Given the description of an element on the screen output the (x, y) to click on. 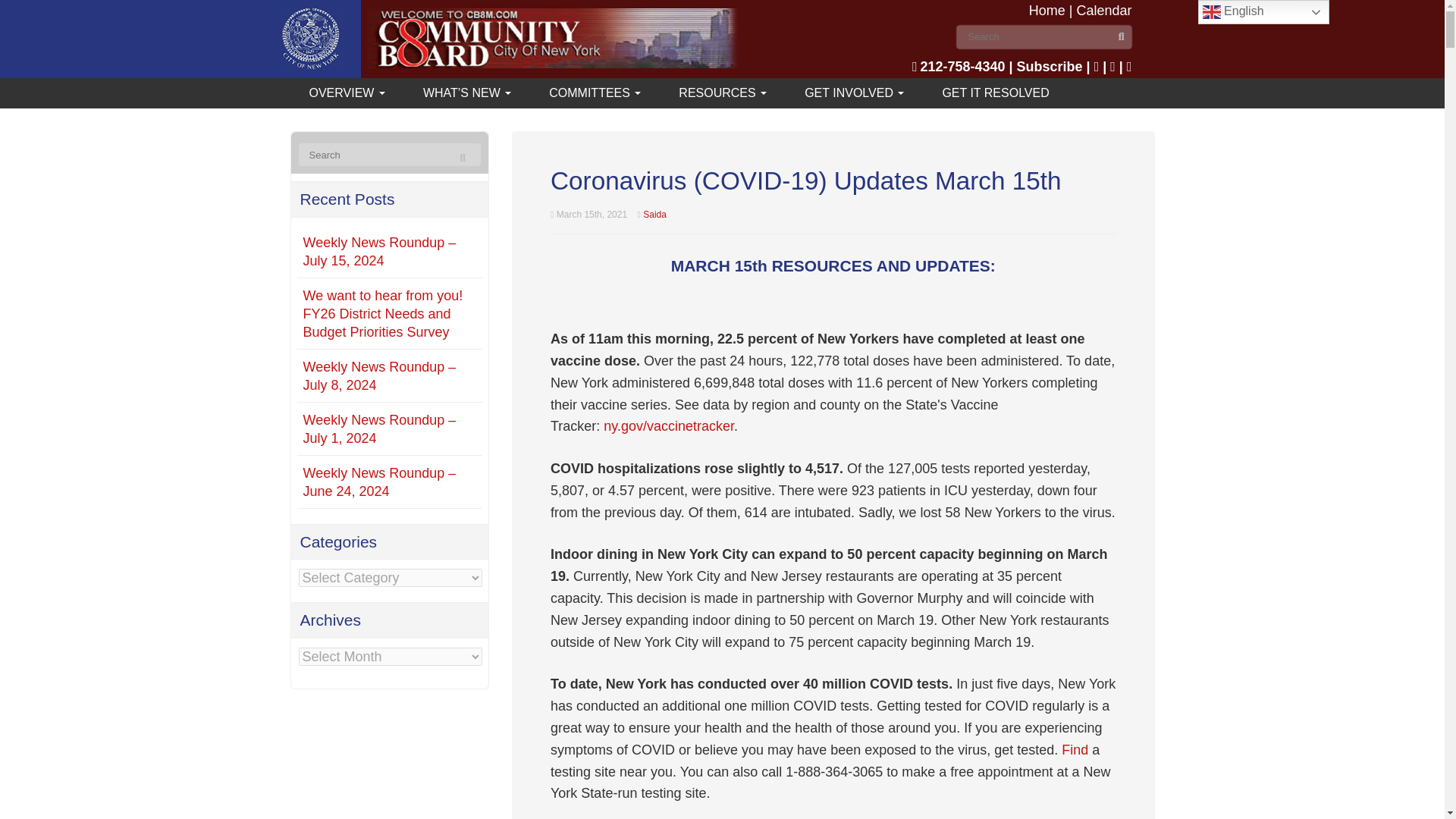
Posts by Saida (654, 214)
